Given the description of an element on the screen output the (x, y) to click on. 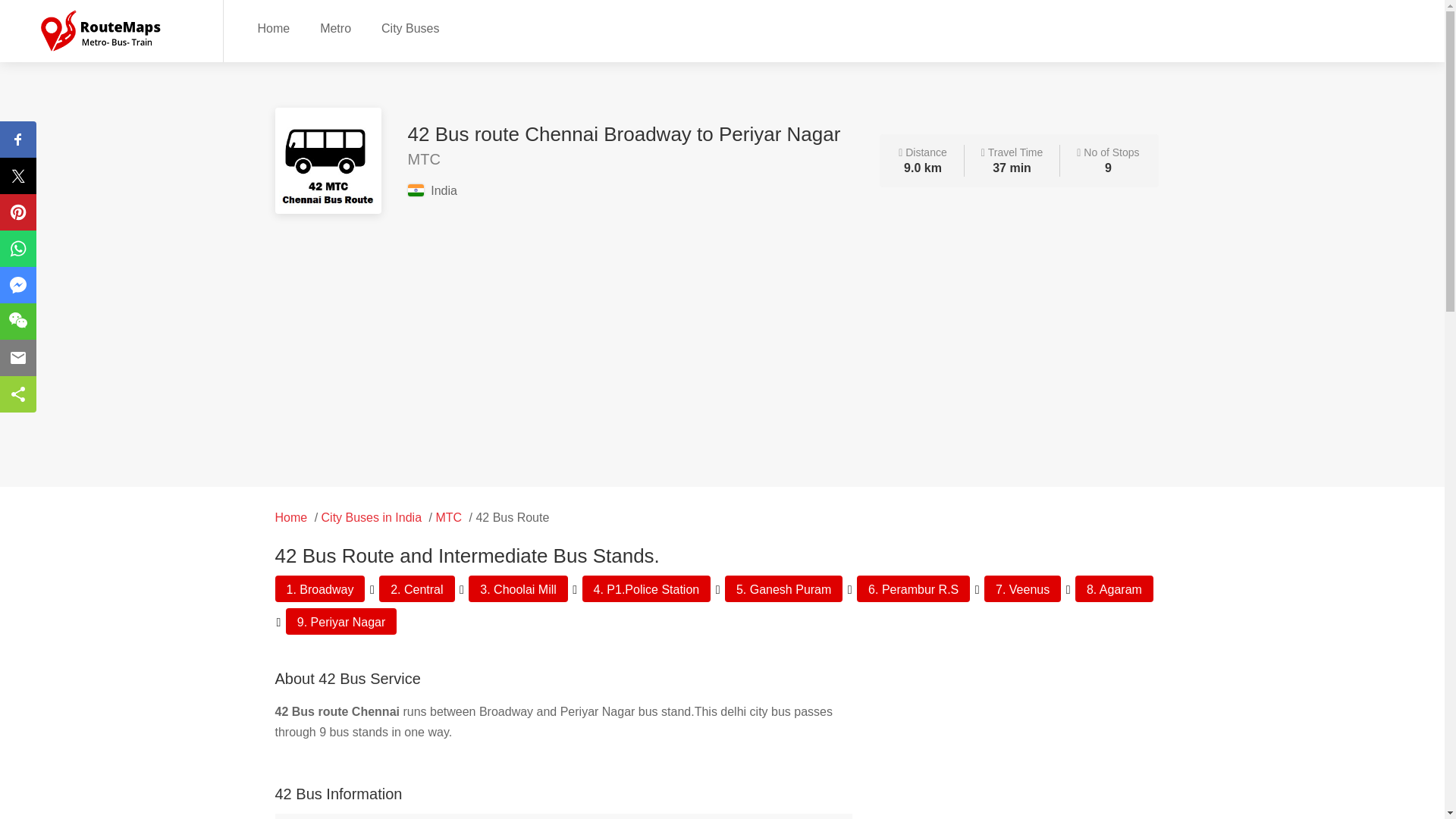
Home (273, 28)
Metro (335, 28)
City Buses (409, 28)
City Buses in India (371, 517)
Home (291, 517)
MTC (448, 517)
